Given the description of an element on the screen output the (x, y) to click on. 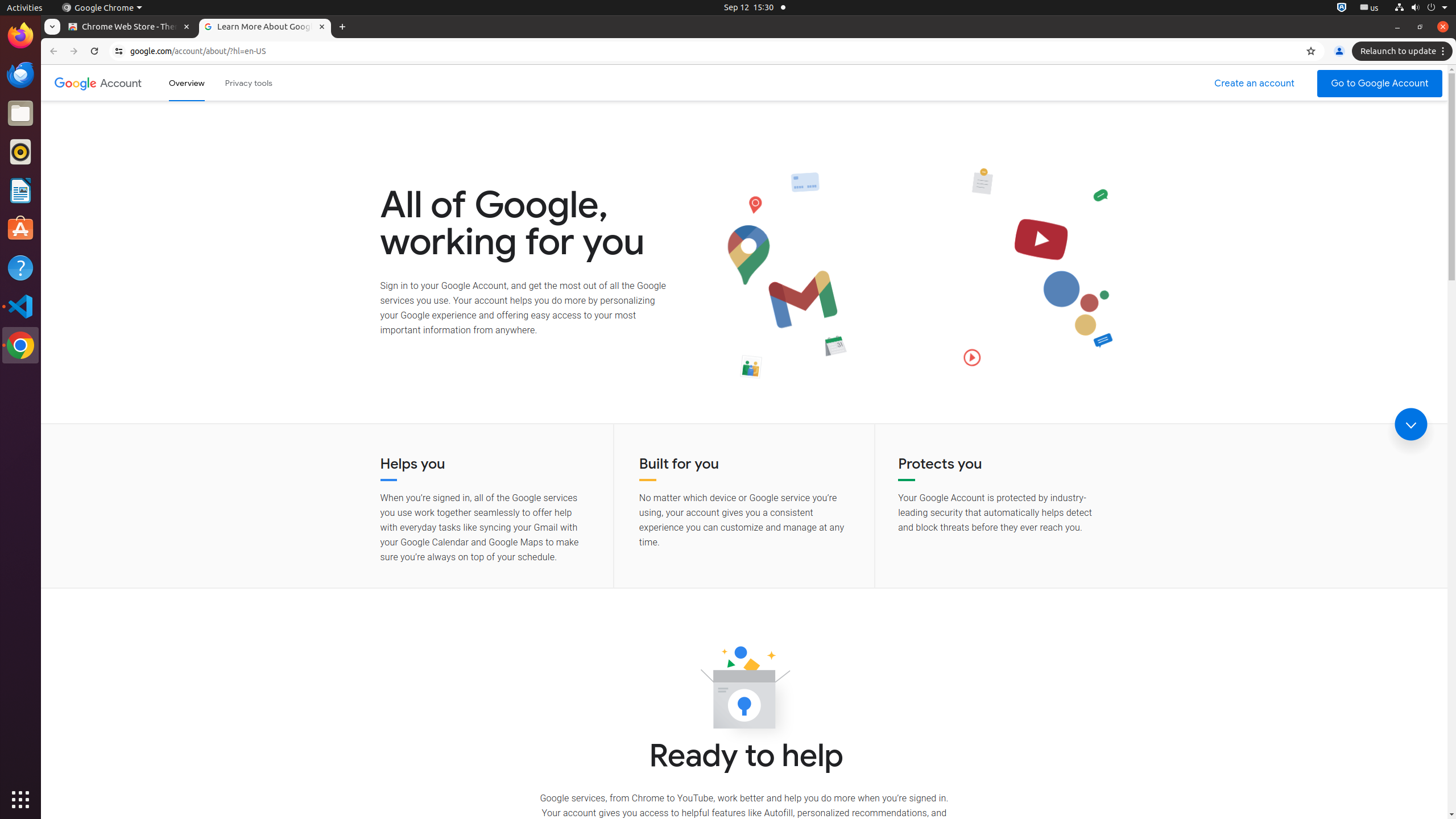
Go to your Google Account Element type: link (1379, 83)
Back Element type: push-button (51, 50)
LibreOffice Writer Element type: push-button (20, 190)
You Element type: push-button (1339, 50)
Help Element type: push-button (20, 267)
